Given the description of an element on the screen output the (x, y) to click on. 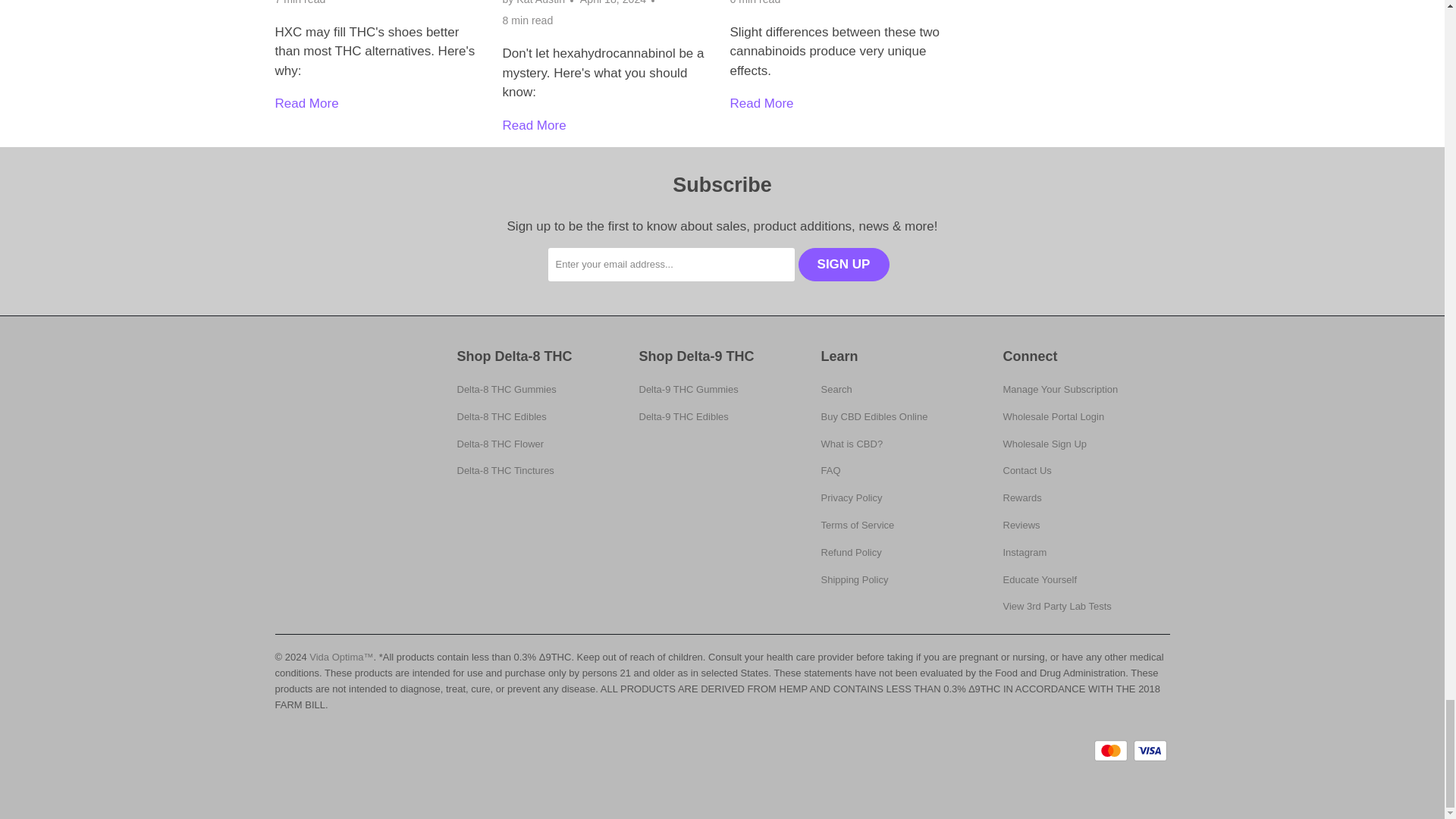
Mastercard (1112, 750)
Visa (1150, 750)
HXC vs THC: Effects, Legality, and Benefits Explained (306, 103)
Sign Up (842, 264)
